Given the description of an element on the screen output the (x, y) to click on. 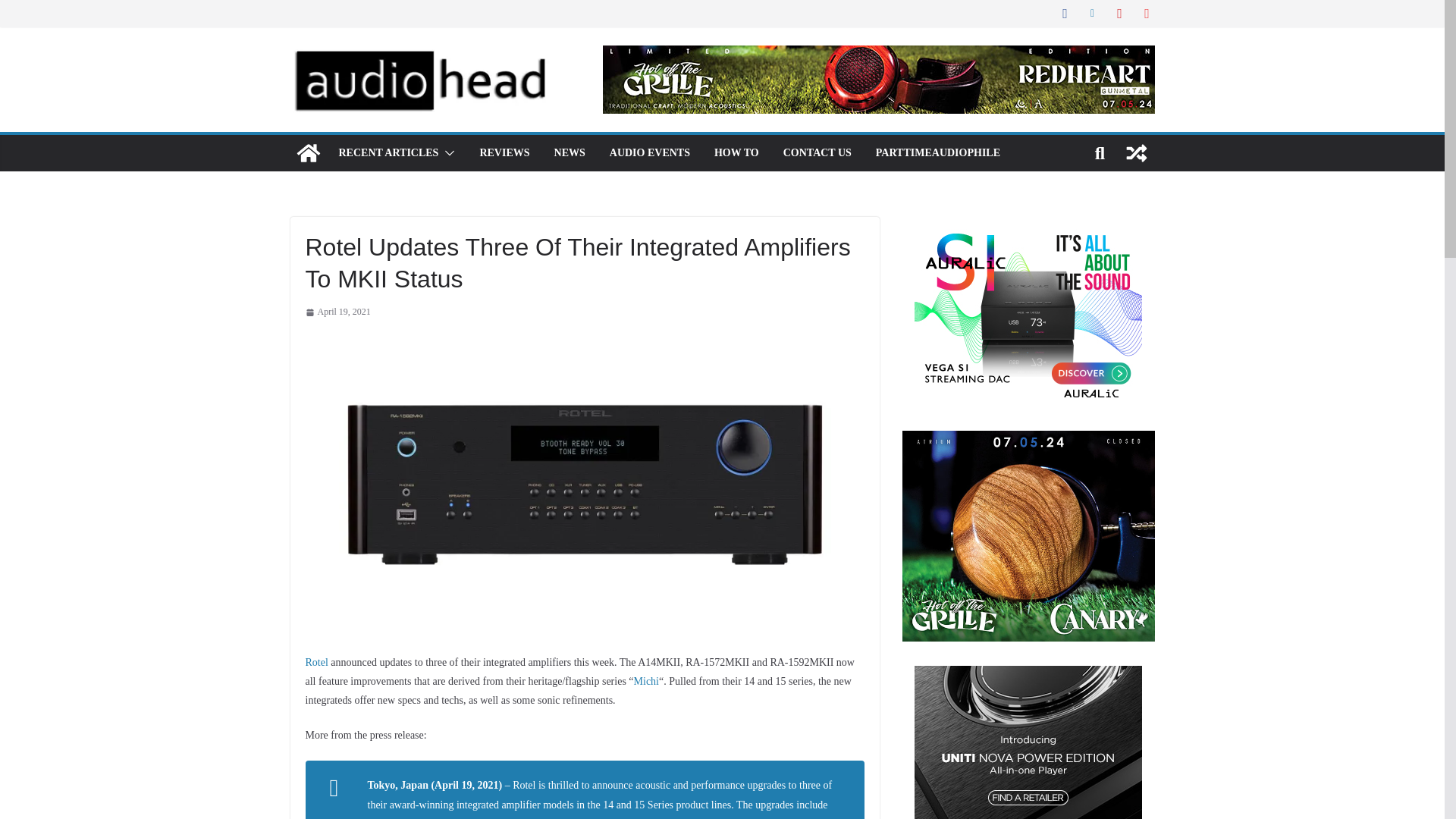
AudioHead (307, 153)
NEWS (569, 152)
CONTACT US (817, 152)
HOW TO (736, 152)
April 19, 2021 (336, 312)
View a random post (1136, 153)
PARTTIMEAUDIOPHILE (938, 152)
9:38 am (336, 312)
RECENT ARTICLES (387, 152)
REVIEWS (504, 152)
Michi (646, 681)
Rotel (315, 662)
AUDIO EVENTS (650, 152)
